Given the description of an element on the screen output the (x, y) to click on. 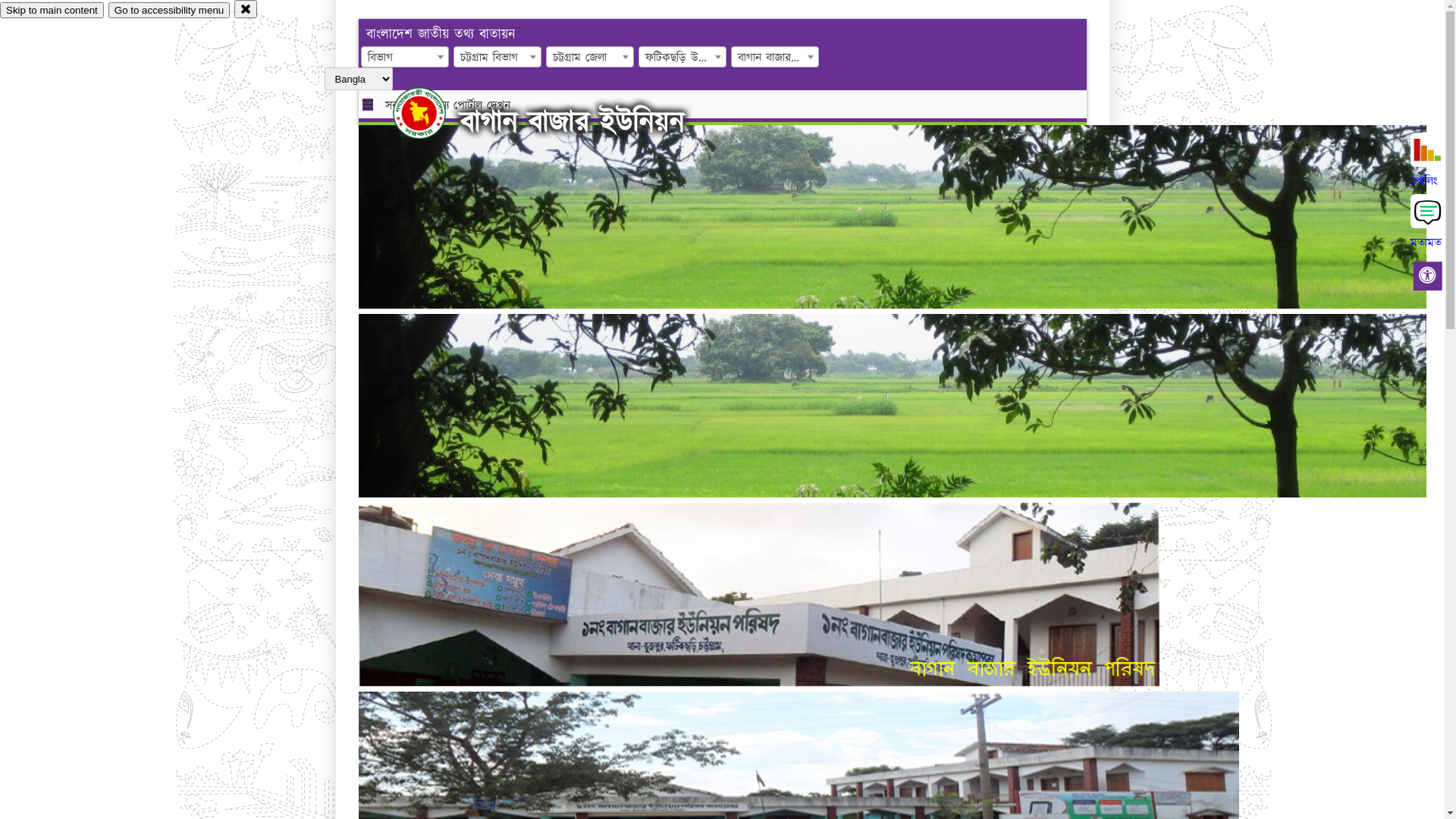

                
             Element type: hover (431, 112)
close Element type: hover (245, 9)
Skip to main content Element type: text (51, 10)
Go to accessibility menu Element type: text (168, 10)
